Given the description of an element on the screen output the (x, y) to click on. 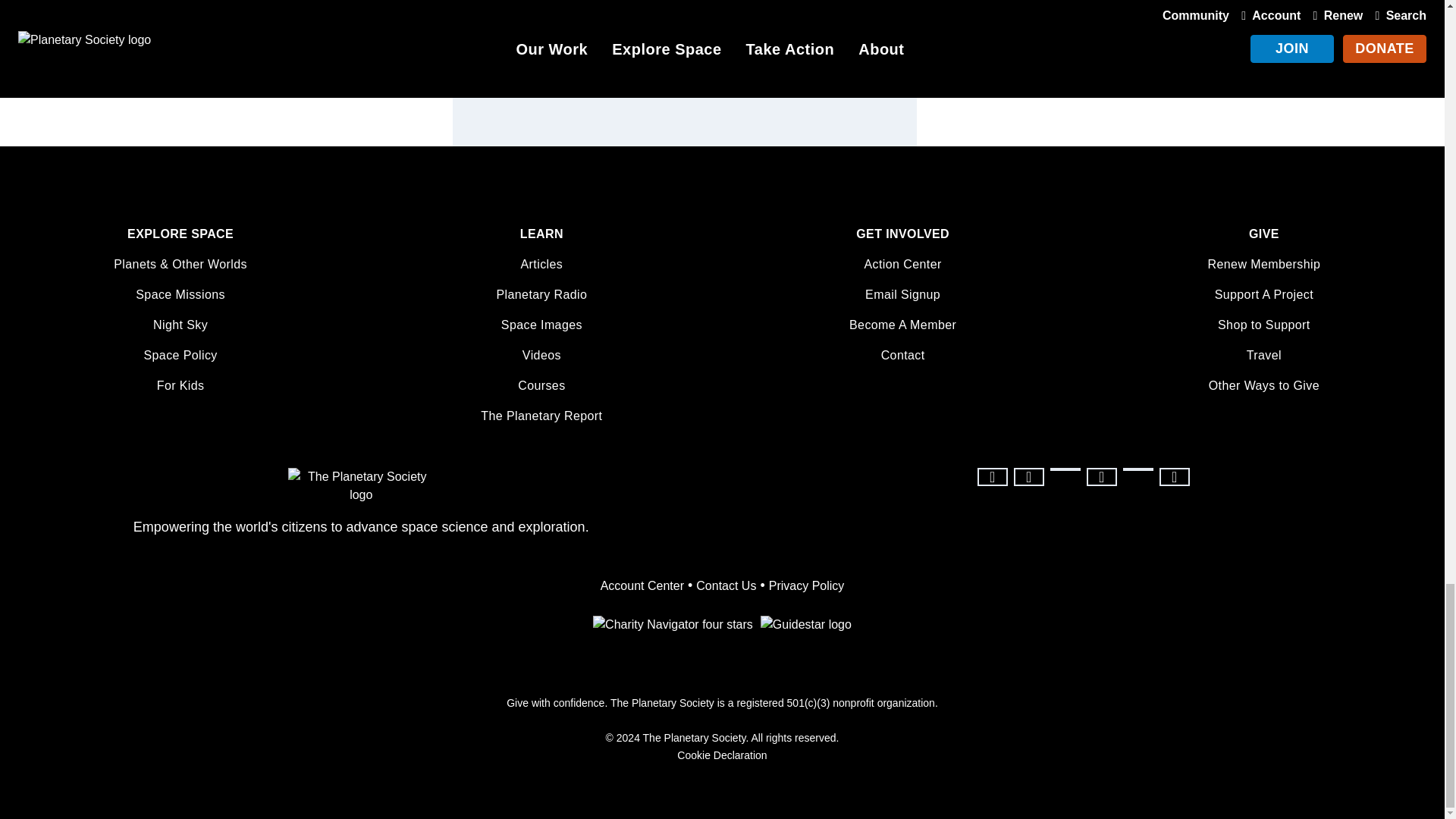
Subscribe (855, 40)
